Given the description of an element on the screen output the (x, y) to click on. 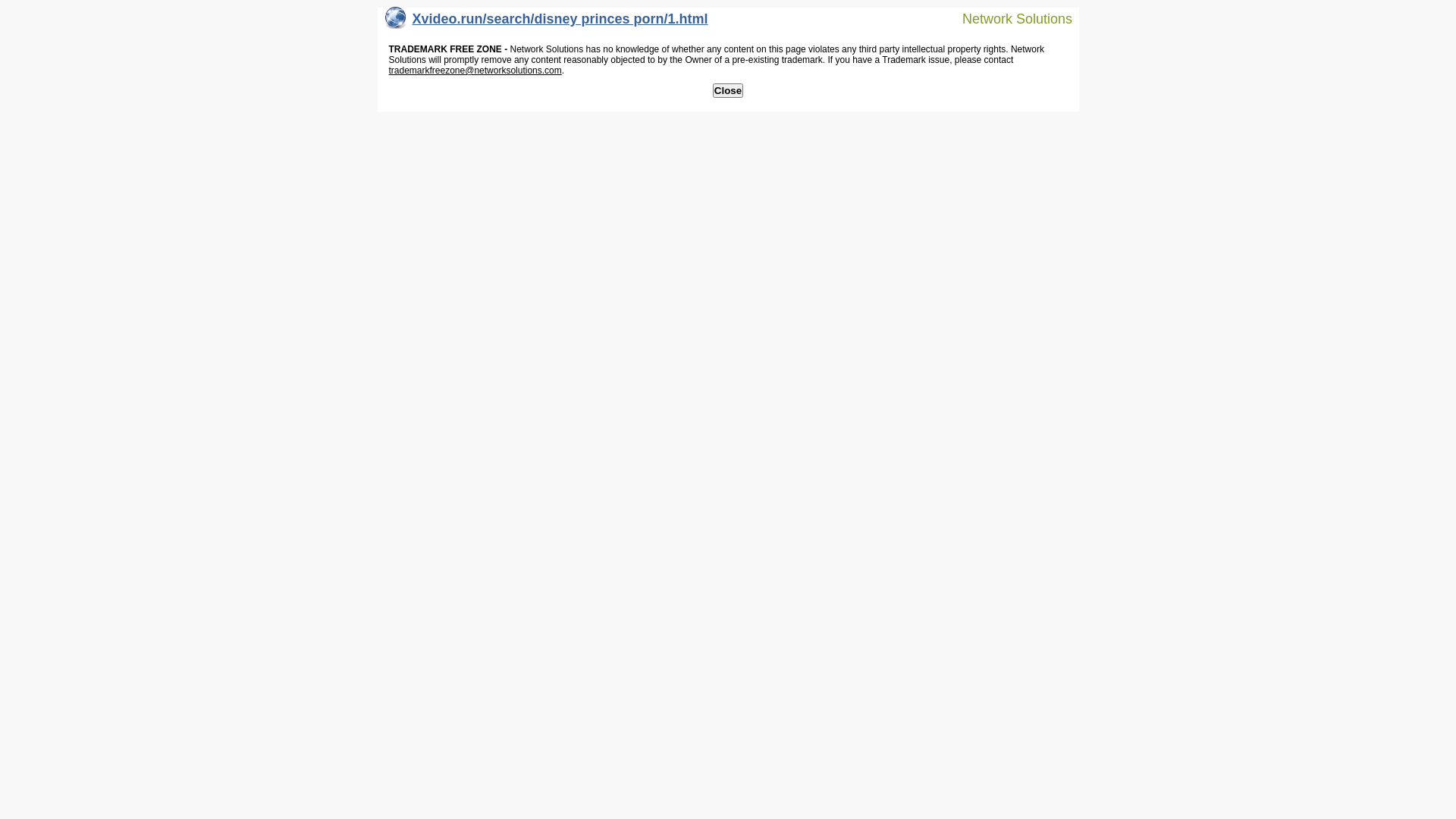
trademarkfreezone@networksolutions.com Element type: text (474, 70)
Xvideo.run/search/disney princes porn/1.html Element type: text (546, 21)
Network Solutions Element type: text (1007, 17)
Close Element type: text (727, 90)
